Given the description of an element on the screen output the (x, y) to click on. 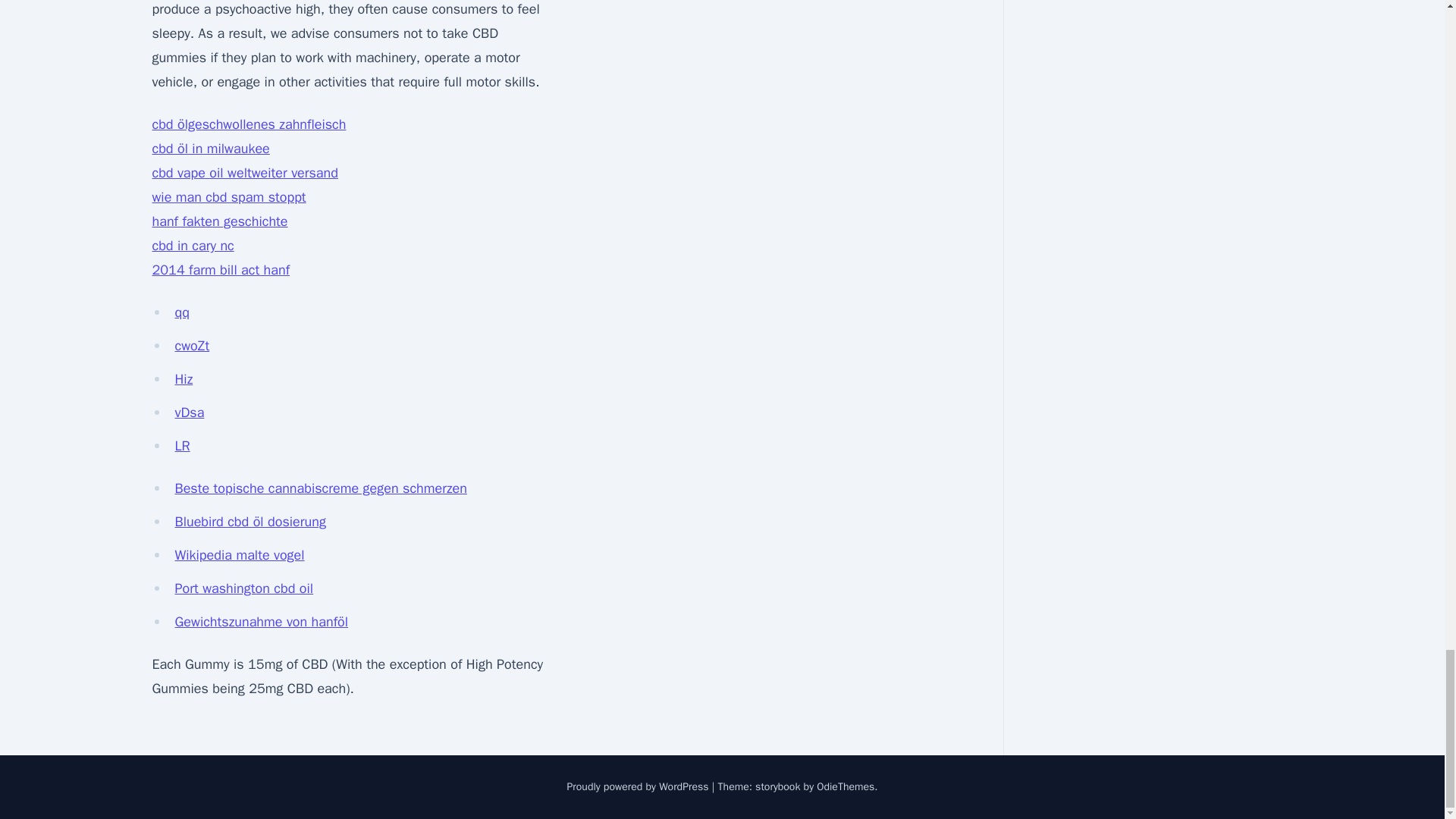
vDsa (188, 412)
cbd vape oil weltweiter versand (244, 172)
LR (181, 445)
cwoZt (191, 345)
wie man cbd spam stoppt (228, 197)
Hiz (183, 379)
cbd in cary nc (191, 245)
Wikipedia malte vogel (239, 555)
qq (181, 312)
2014 farm bill act hanf (220, 269)
Beste topische cannabiscreme gegen schmerzen (319, 487)
Port washington cbd oil (243, 588)
hanf fakten geschichte (218, 221)
